Given the description of an element on the screen output the (x, y) to click on. 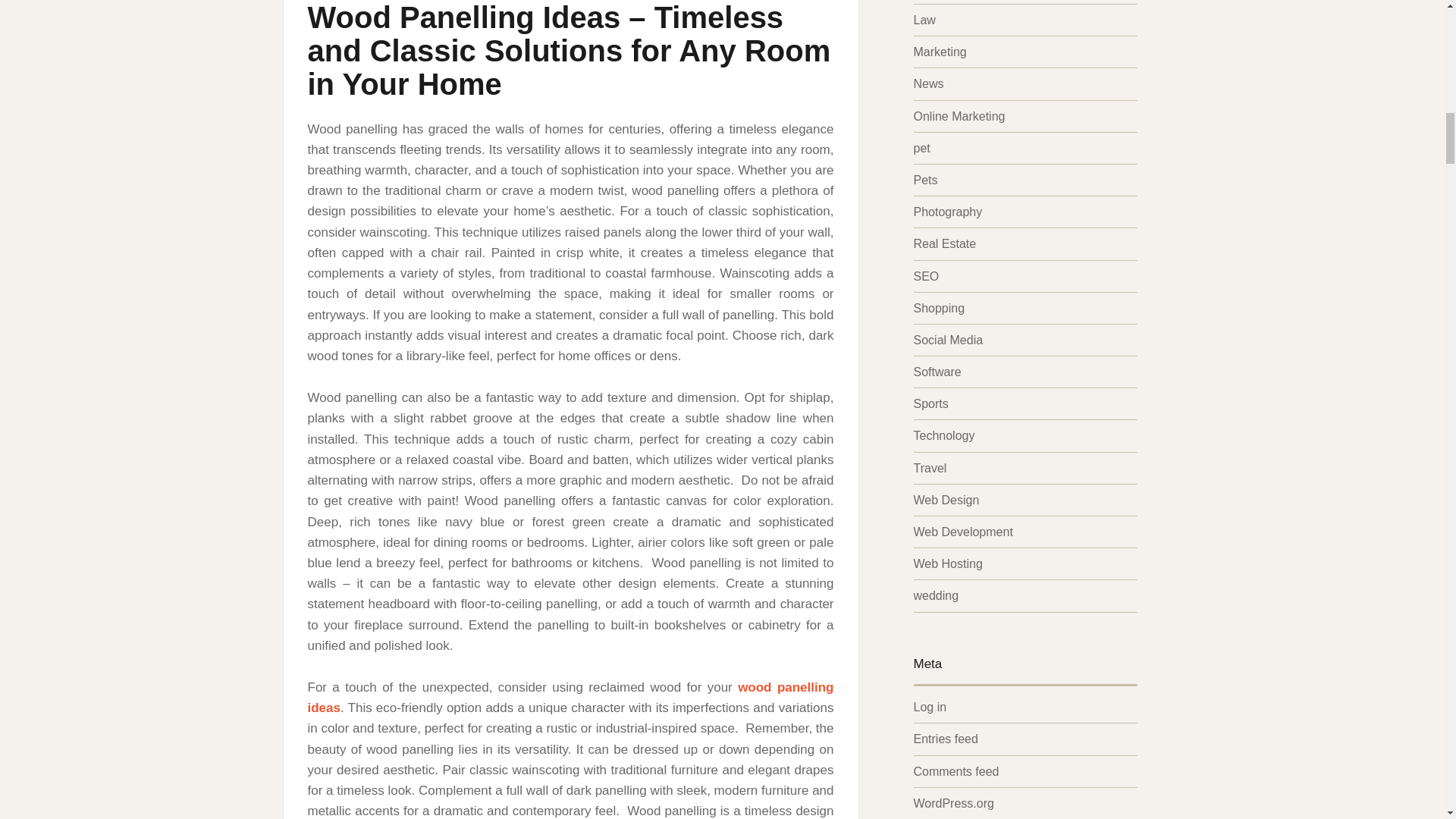
wood panelling ideas (570, 697)
